Given the description of an element on the screen output the (x, y) to click on. 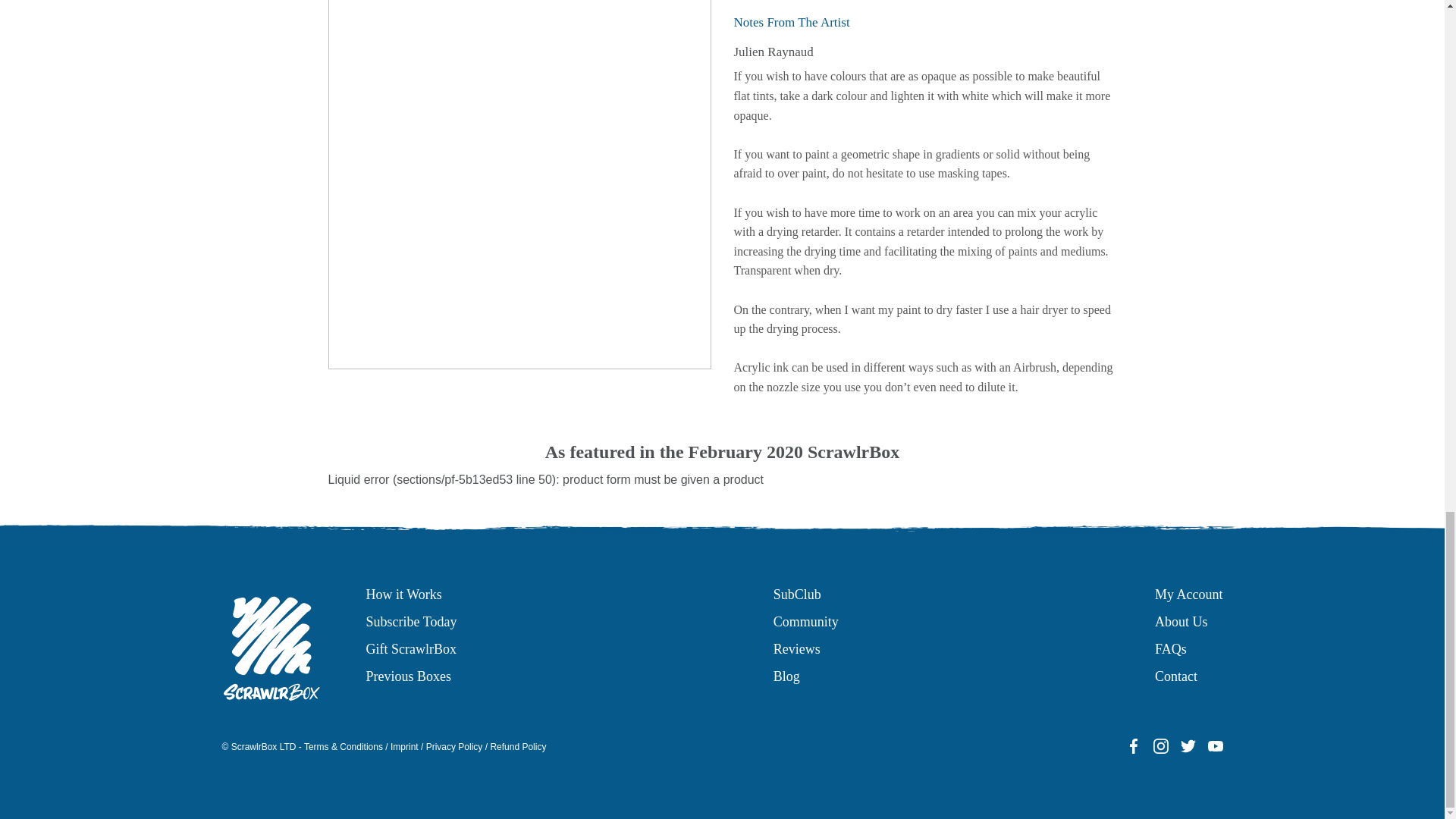
Facebook icon (1132, 745)
Instagram icon (1160, 745)
YouTube icon (1215, 745)
Twitter icon (1187, 745)
